Given the description of an element on the screen output the (x, y) to click on. 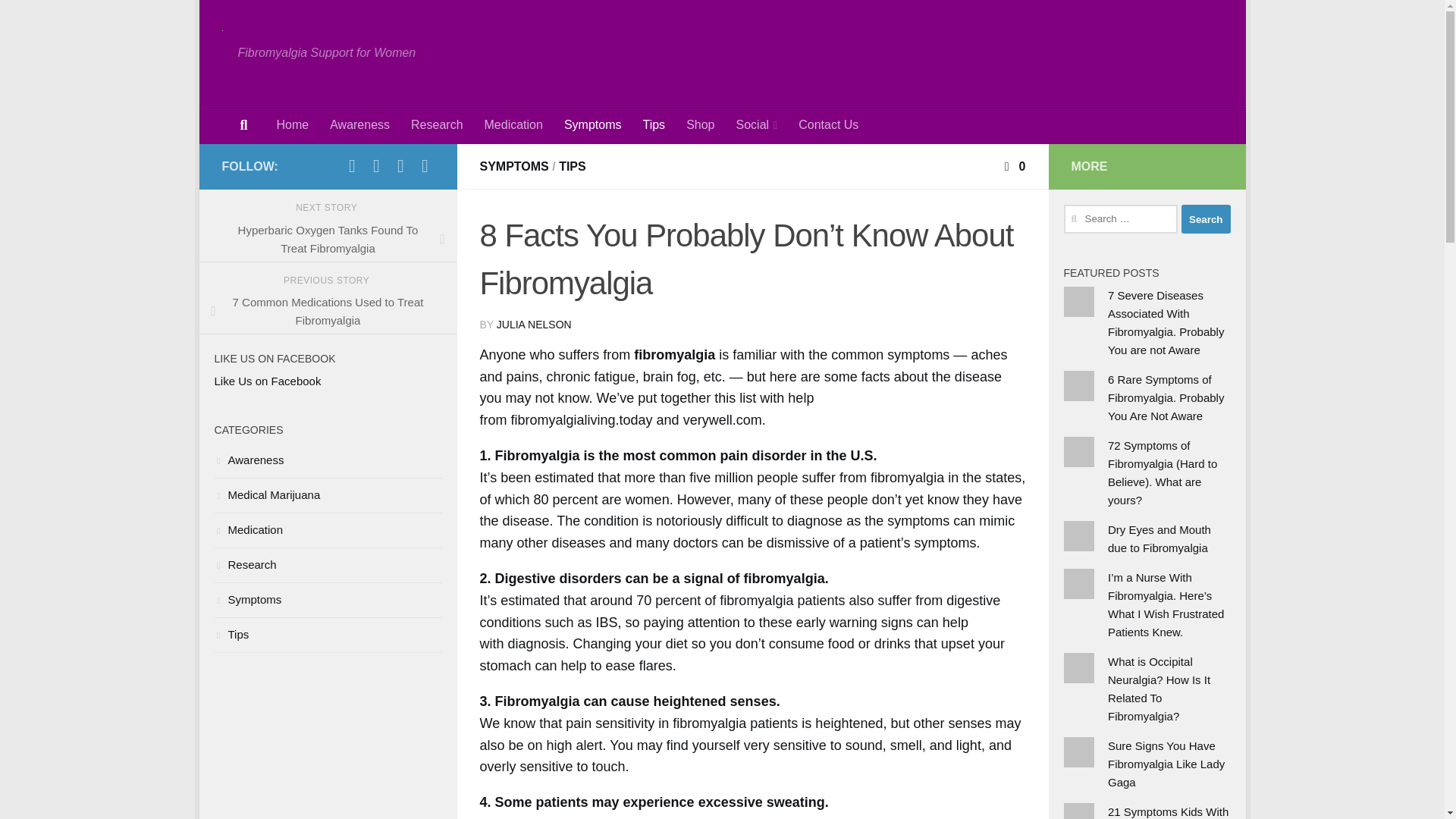
0 (1013, 165)
Search (1205, 218)
Tips (653, 125)
Posts by Julia Nelson (534, 324)
Research (436, 125)
JULIA NELSON (534, 324)
Awareness (359, 125)
Contact Us (828, 125)
Symptoms (592, 125)
